Given the description of an element on the screen output the (x, y) to click on. 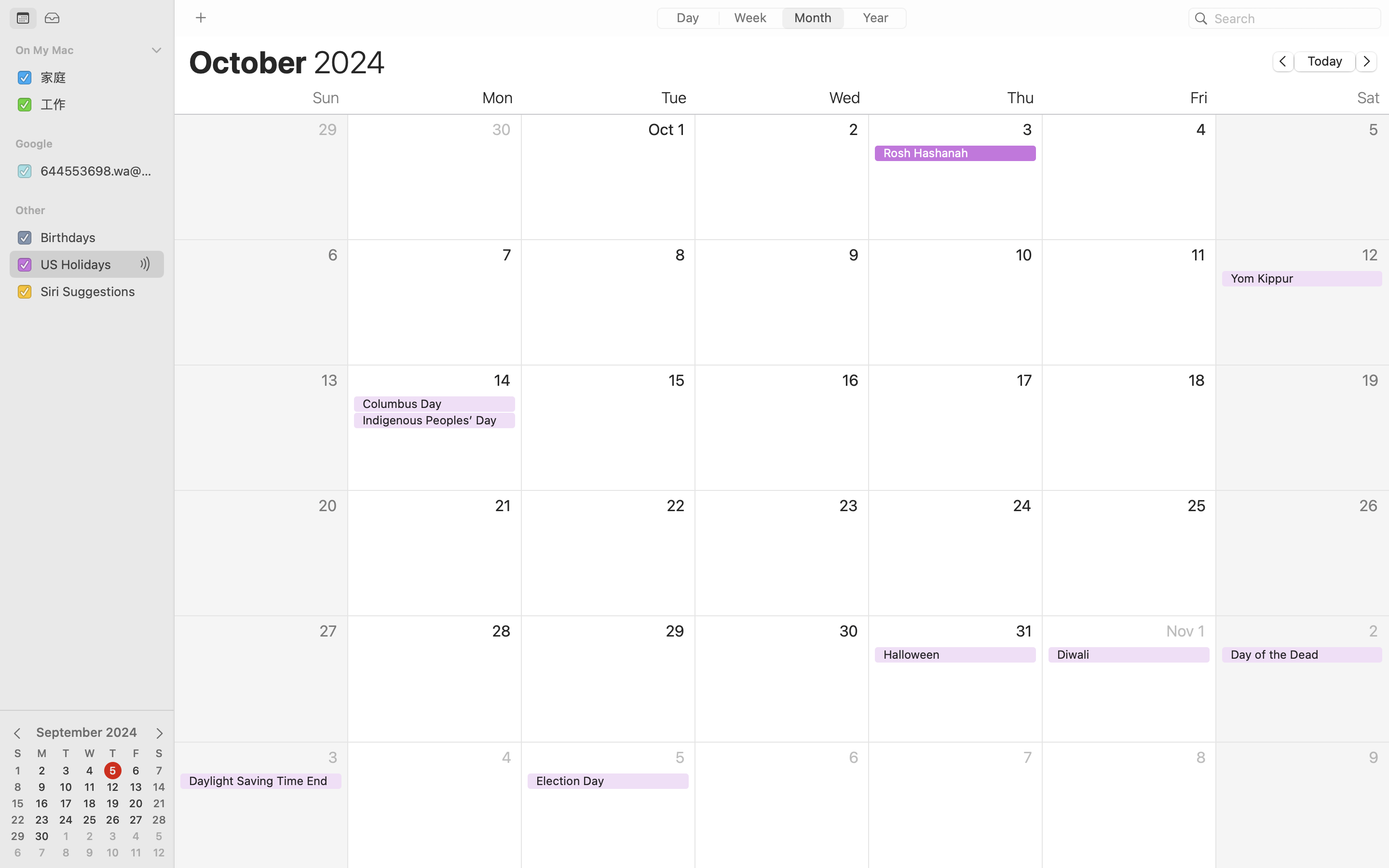
<AXUIElement 0x151b7eae0> {pid=1173} Element type: AXRadioGroup (781, 18)
14 Element type: AXStaticText (158, 787)
20 Element type: AXStaticText (135, 803)
On My Mac Element type: AXStaticText (81, 49)
Google Element type: AXStaticText (92, 143)
